Given the description of an element on the screen output the (x, y) to click on. 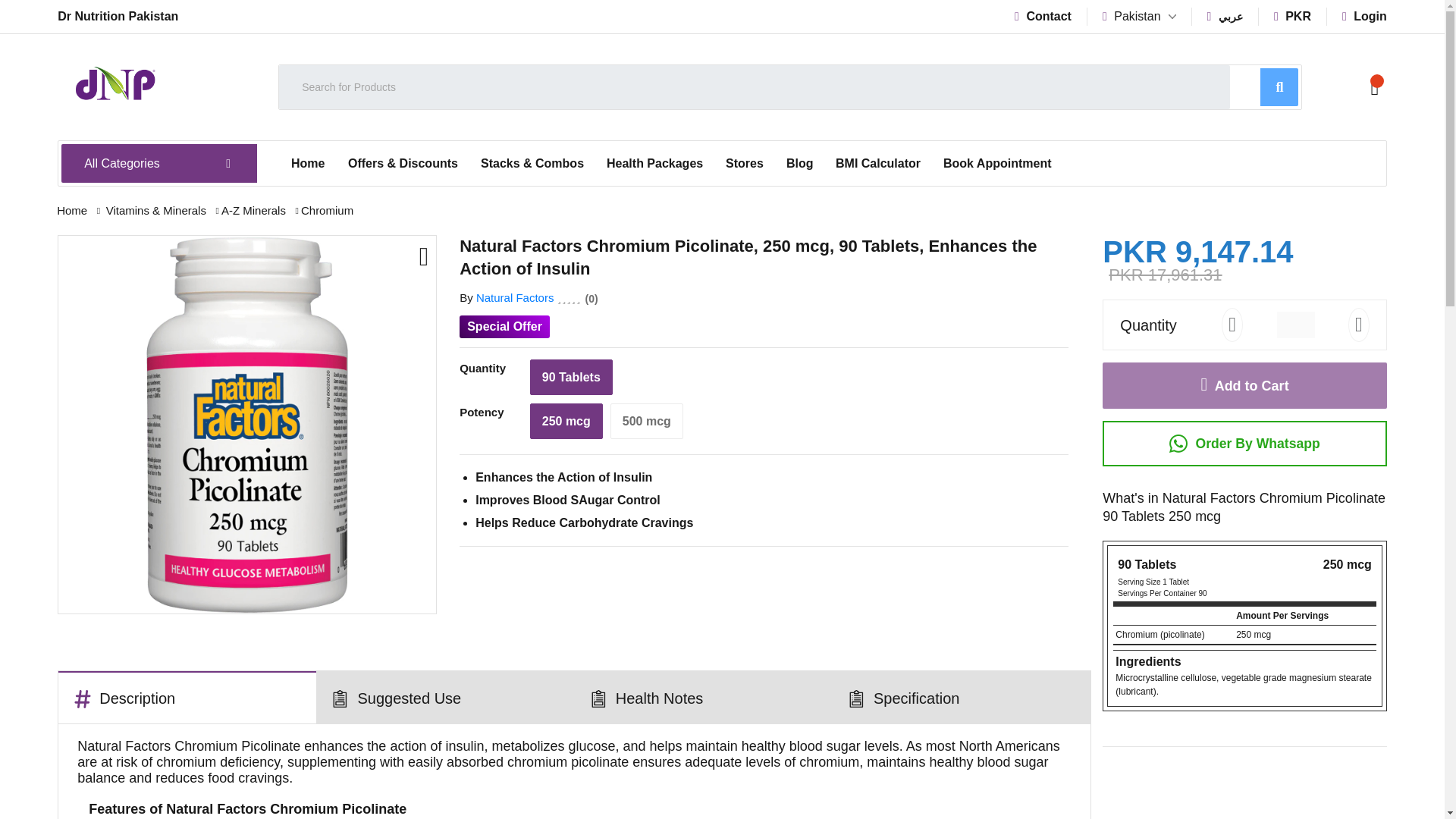
Home (307, 163)
Stores (744, 163)
PKR (1292, 16)
Health Packages (654, 163)
Login (1364, 16)
Contact (1042, 16)
Contact (1042, 16)
PKR (1292, 16)
Login (1364, 16)
